Given the description of an element on the screen output the (x, y) to click on. 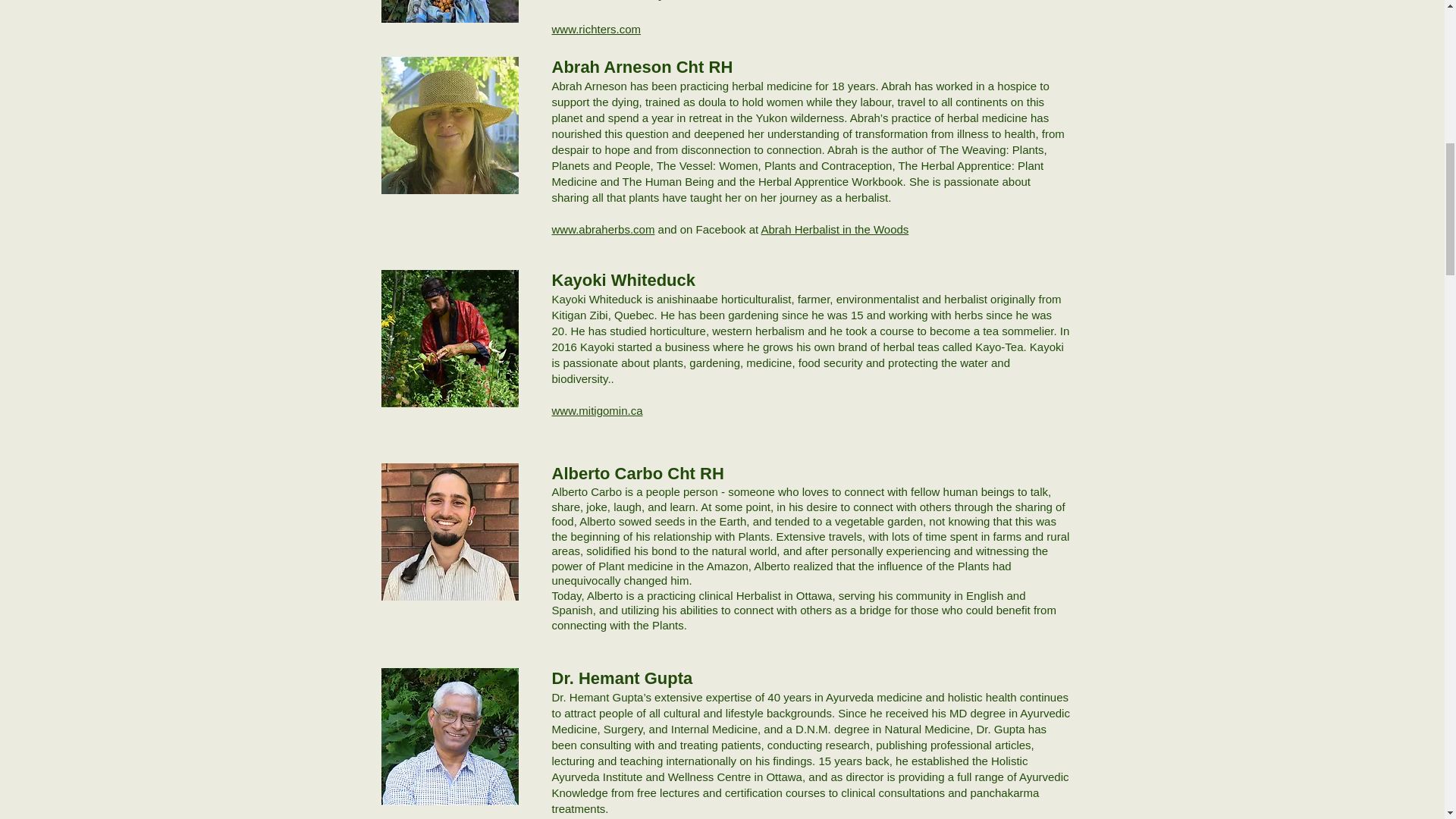
Abrah-portrait-2.jpeg (449, 125)
www.abraherbs.com (603, 228)
Nic-Headshot2.jpeg (449, 338)
Abrah Herbalist in the Woods (834, 228)
www.richters.com (596, 29)
Abrah-portrait-2.jpeg (449, 531)
www.mitigomin.ca (597, 410)
Abrah-portrait-2.jpeg (449, 736)
Megan Headshot.png (449, 11)
